Given the description of an element on the screen output the (x, y) to click on. 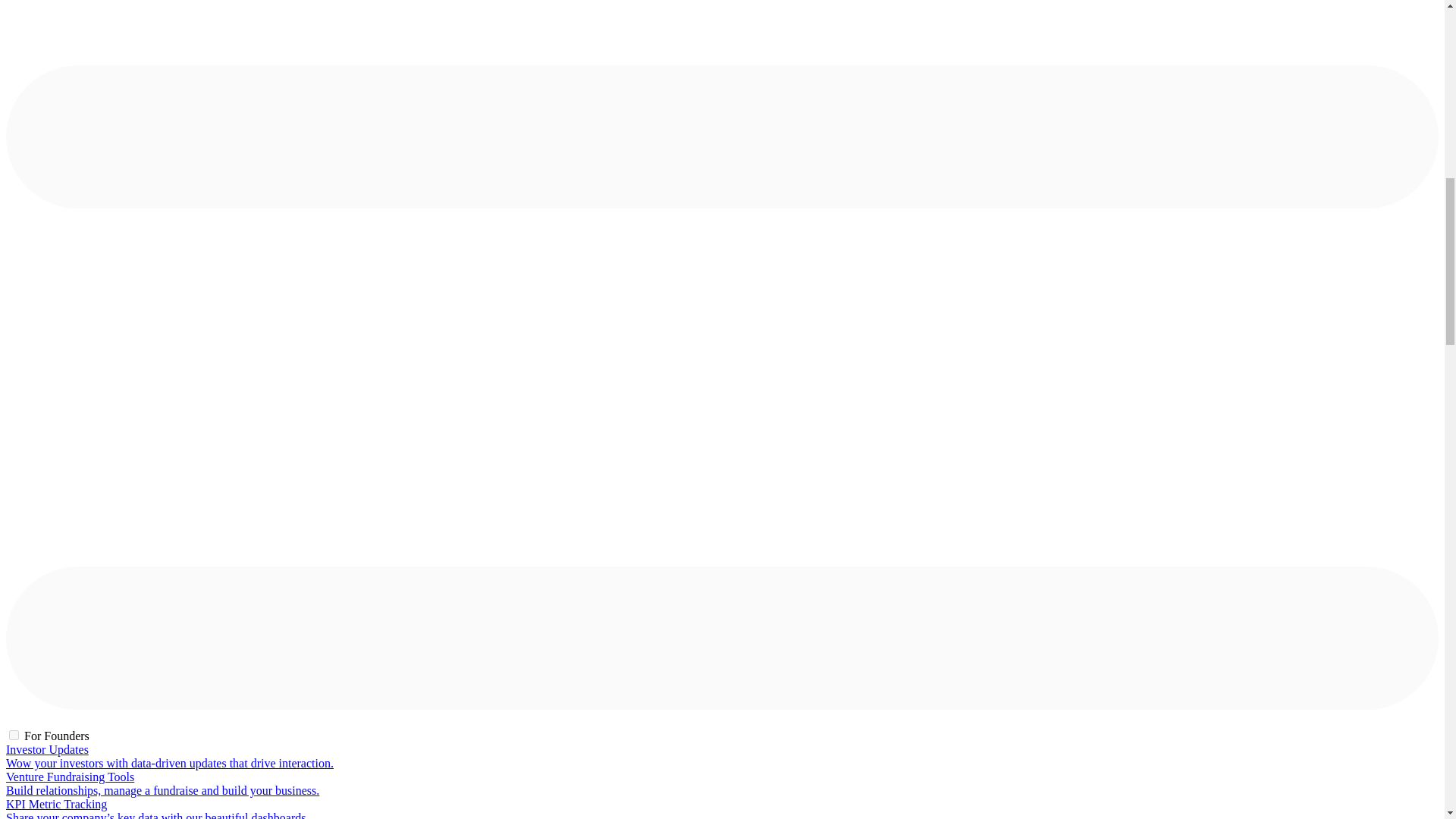
on (13, 735)
